Given the description of an element on the screen output the (x, y) to click on. 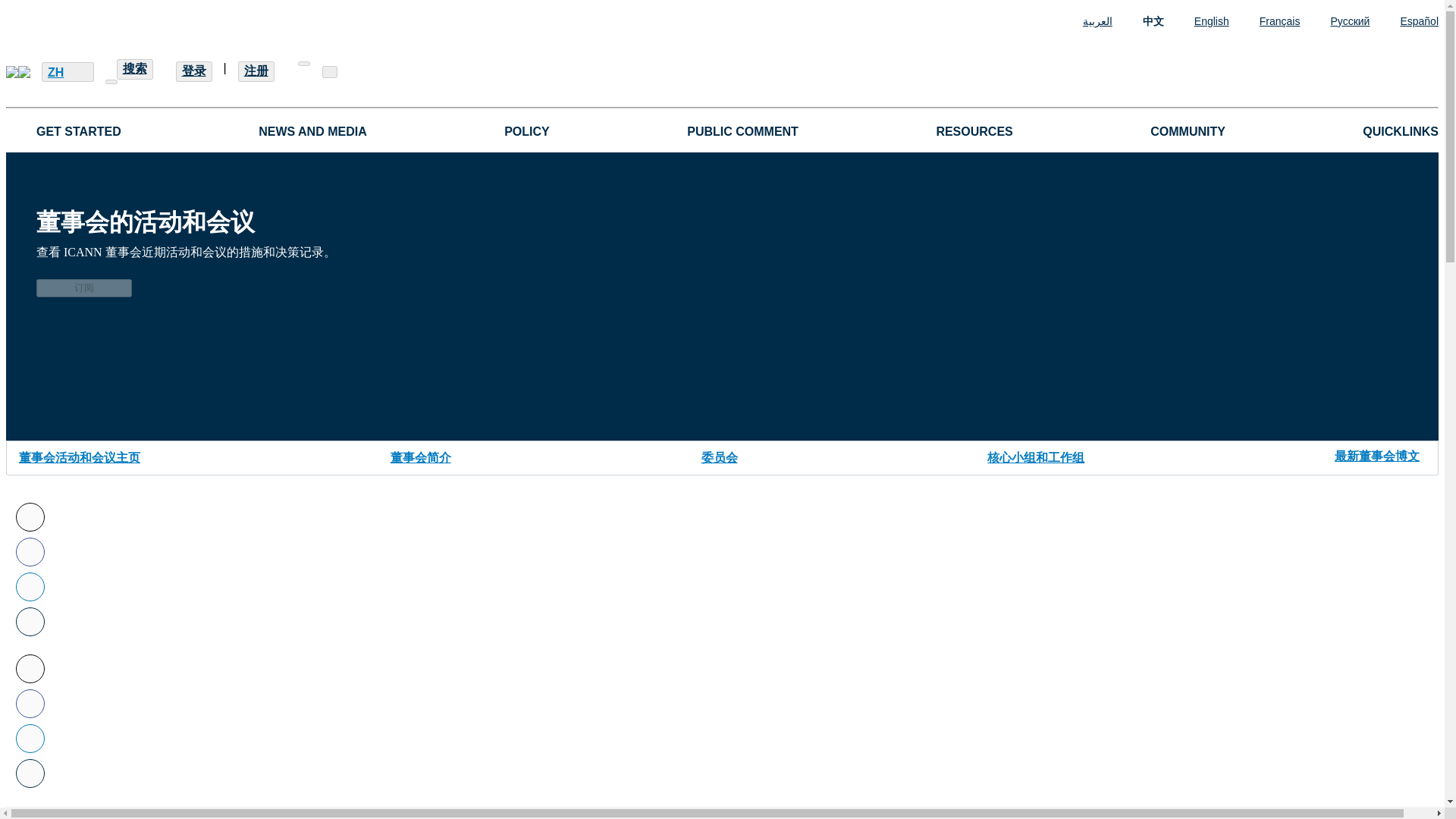
English (1195, 20)
PUBLIC COMMENT (742, 131)
RESOURCES (973, 131)
GET STARTED (78, 131)
ZH (68, 71)
NEWS AND MEDIA (312, 131)
Logo (17, 70)
POLICY (526, 131)
COMMUNITY (1187, 131)
QUICKLINKS (1400, 131)
